Given the description of an element on the screen output the (x, y) to click on. 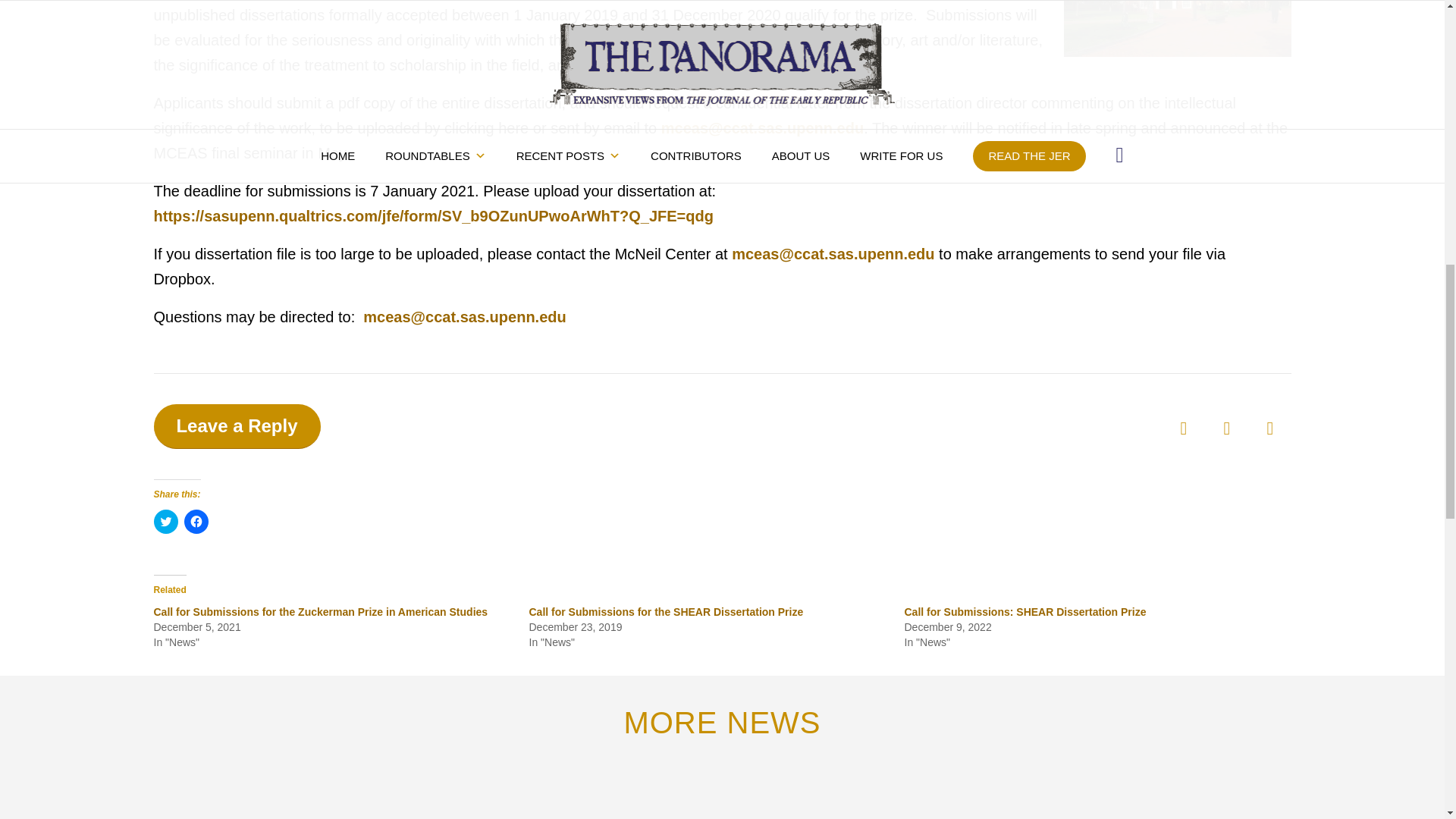
Click to share on Twitter (164, 521)
Click to share on Facebook (195, 521)
Call for Submissions for the SHEAR Dissertation Prize (666, 612)
Call for Submissions: SHEAR Dissertation Prize (1024, 612)
